Given the description of an element on the screen output the (x, y) to click on. 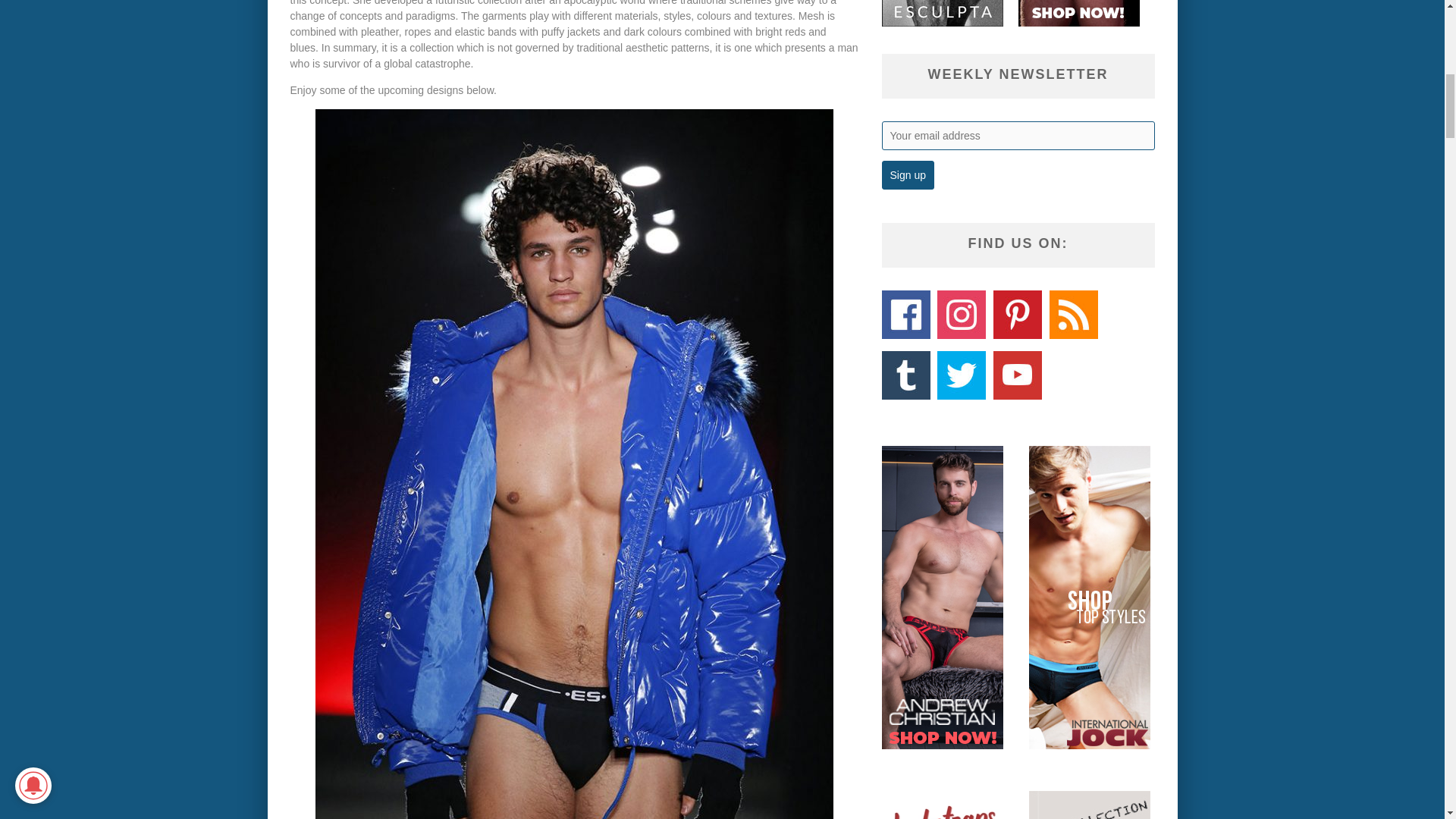
Sign up (906, 174)
